Given the description of an element on the screen output the (x, y) to click on. 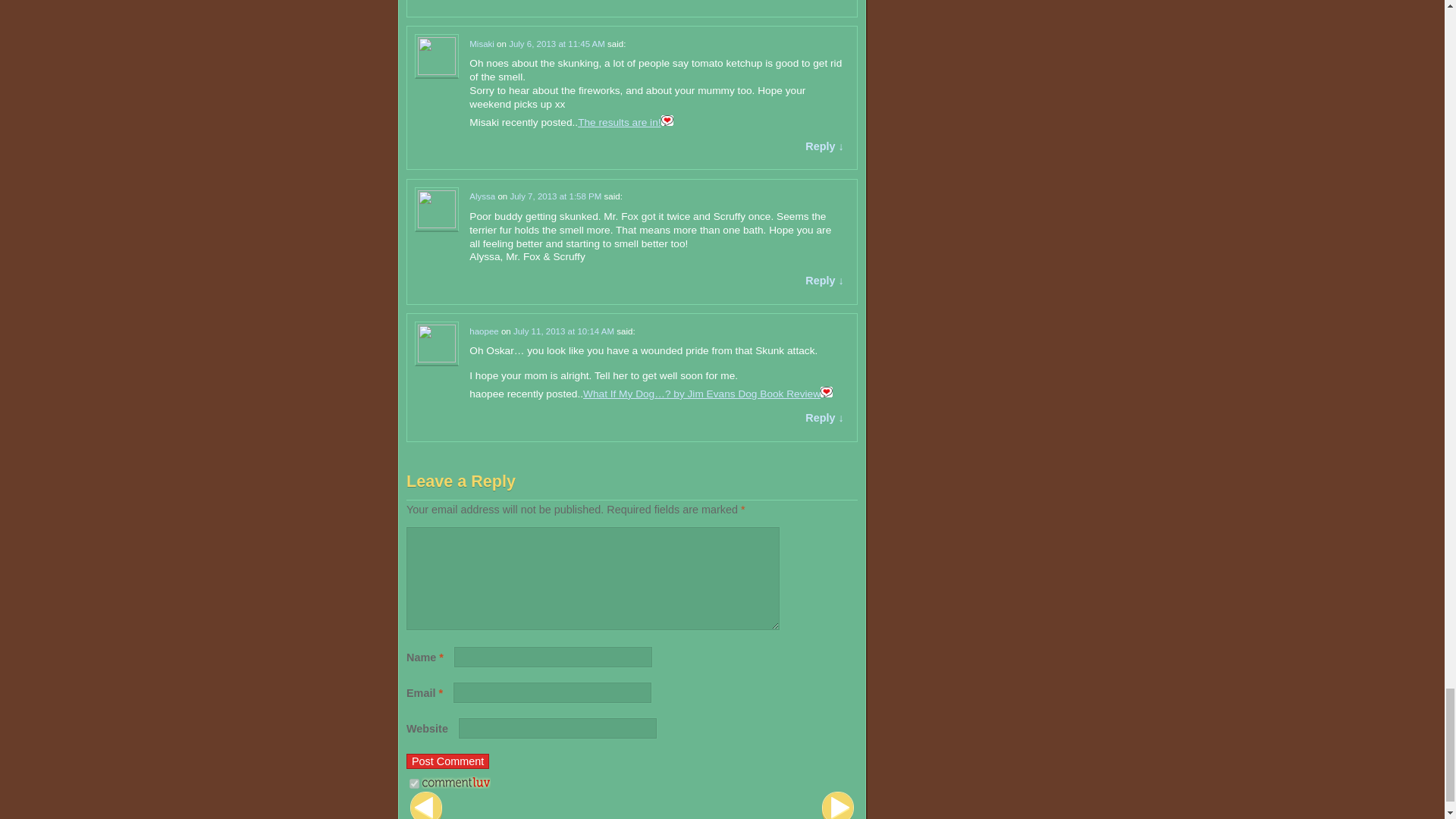
CommentLuv is enabled (456, 784)
on (414, 783)
Post Comment (447, 761)
